Given the description of an element on the screen output the (x, y) to click on. 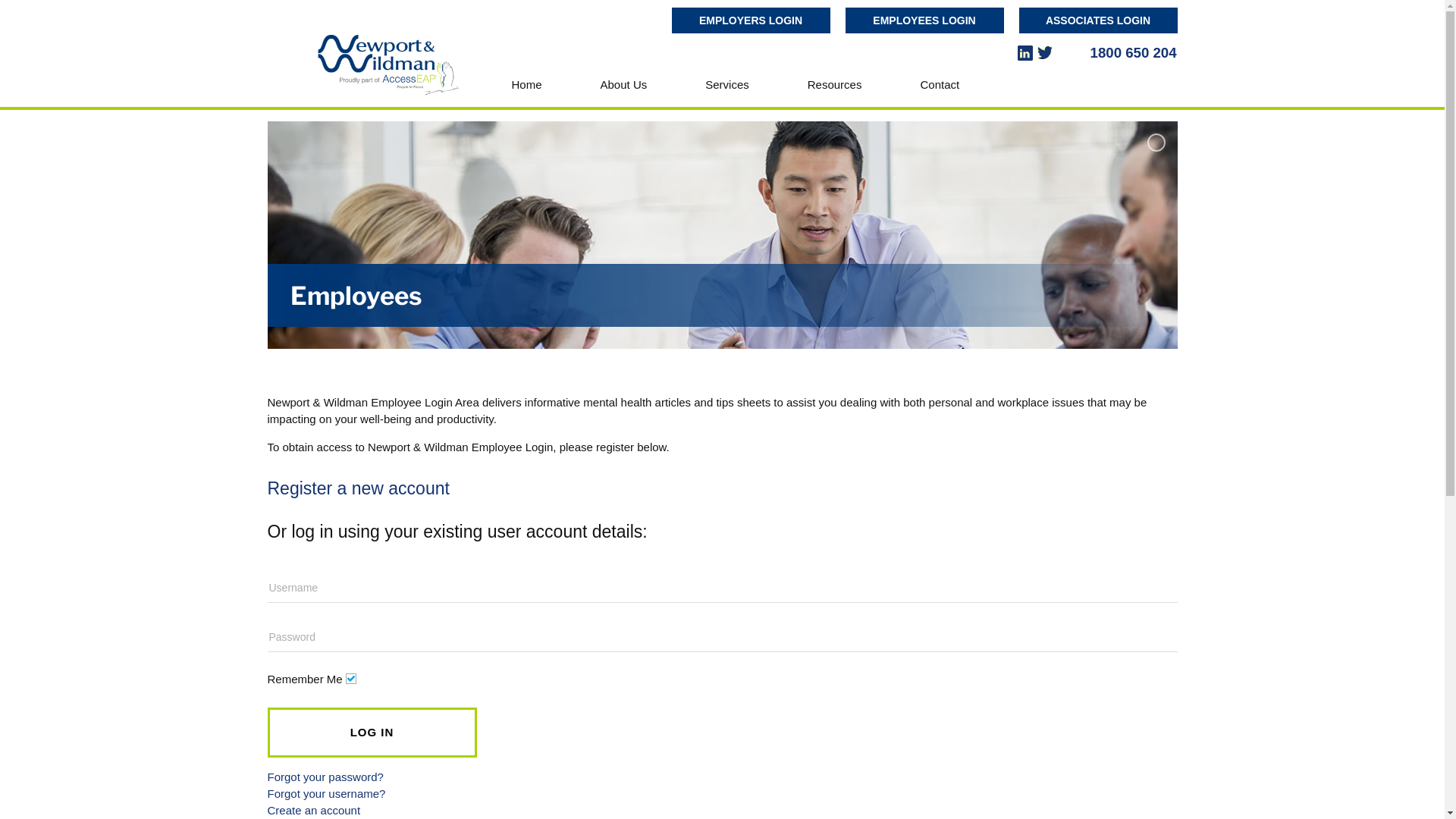
Resources Element type: text (834, 84)
Contact Element type: text (939, 84)
About Us Element type: text (623, 84)
Forgot your username? Element type: text (325, 793)
Home Element type: text (526, 84)
1800 650 204 Element type: text (1133, 52)
ASSOCIATES LOGIN Element type: text (1098, 20)
Create an account Element type: text (313, 809)
Forgot your password? Element type: text (324, 776)
Services Element type: text (727, 84)
EMPLOYEES LOGIN Element type: text (923, 20)
EMPLOYERS LOGIN Element type: text (750, 20)
Register a new account Element type: text (357, 488)
LOG IN Element type: text (371, 732)
